Given the description of an element on the screen output the (x, y) to click on. 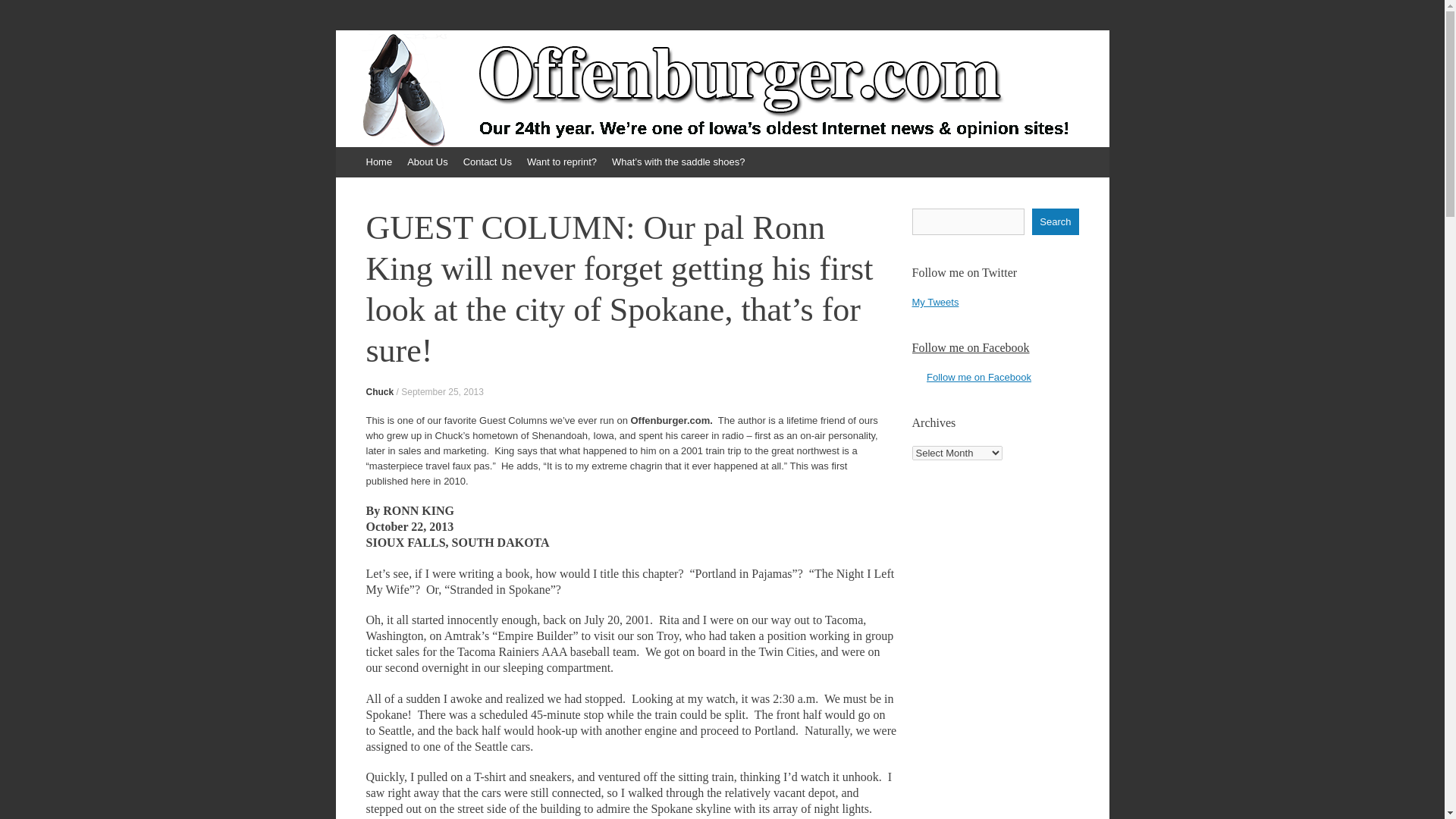
Follow me on Facebook (970, 347)
Search (1055, 221)
Skip to content (342, 153)
Home (378, 162)
Offenburger.com (453, 80)
Want to reprint? (561, 162)
My Tweets (934, 301)
Offenburger.com (453, 80)
Chuck (379, 391)
September 25, 2013 (442, 391)
Follow me on Facebook (978, 377)
About Us (426, 162)
Contact Us (487, 162)
